Given the description of an element on the screen output the (x, y) to click on. 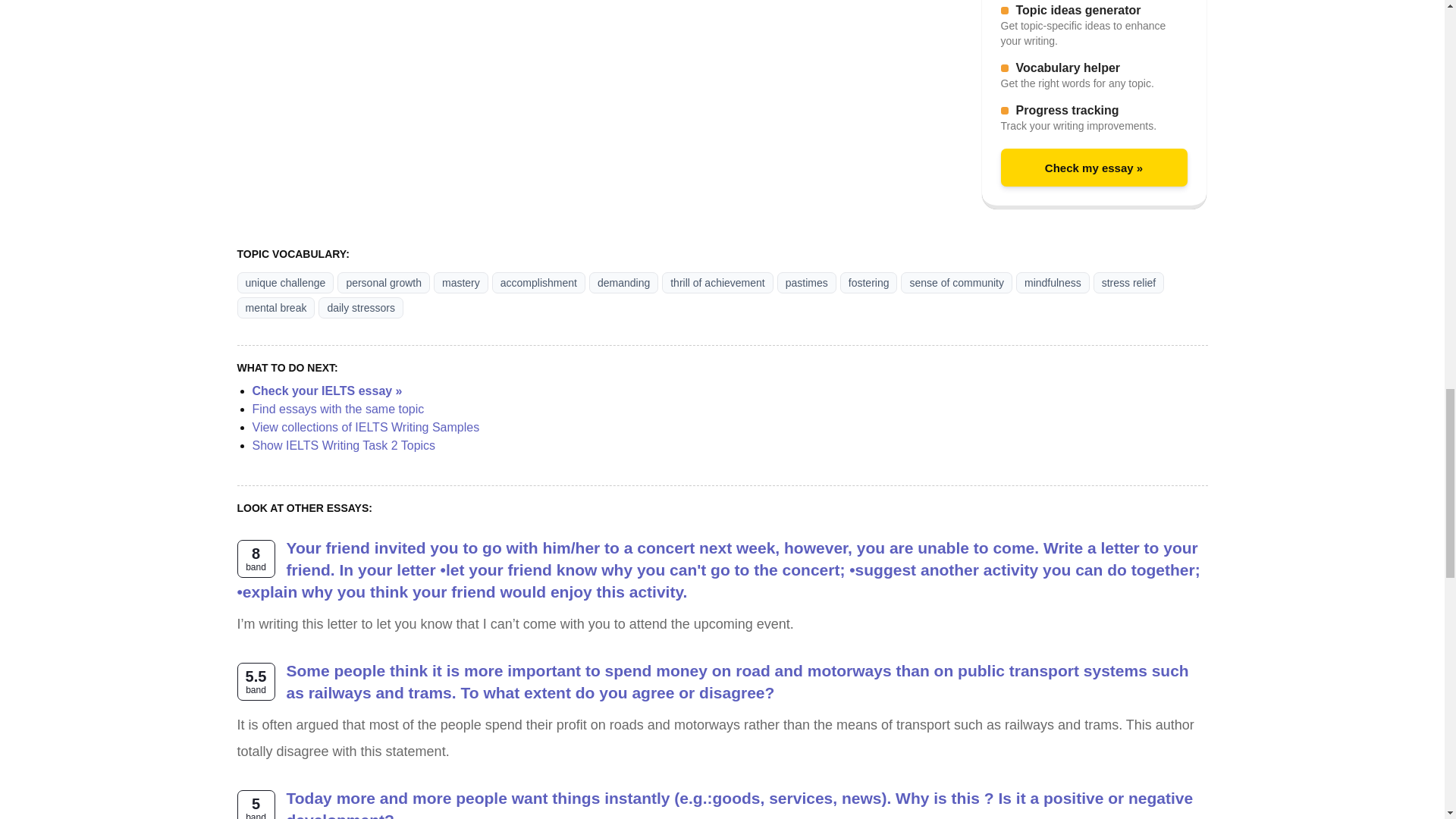
Show IELTS Writing Task 2 Topics (343, 445)
View collections of IELTS Writing Samples (365, 427)
Find essays with the same topic (337, 408)
